Given the description of an element on the screen output the (x, y) to click on. 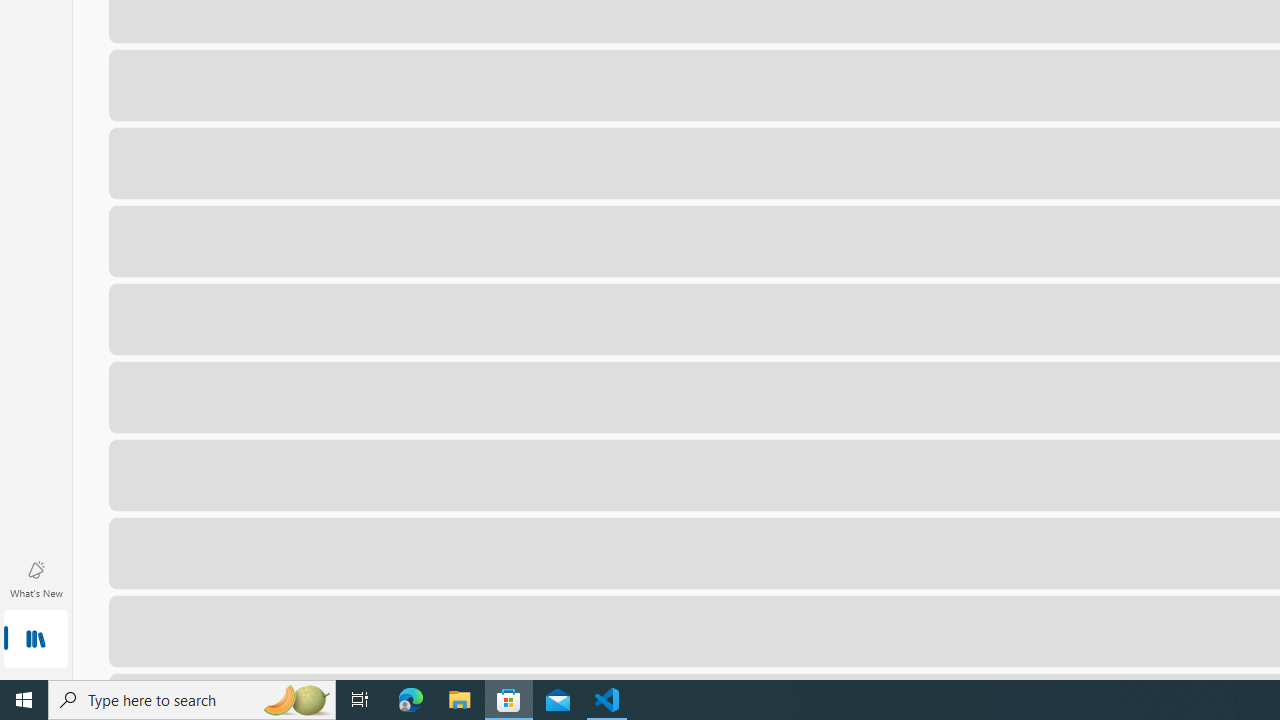
What's New (35, 578)
Library (35, 640)
